Given the description of an element on the screen output the (x, y) to click on. 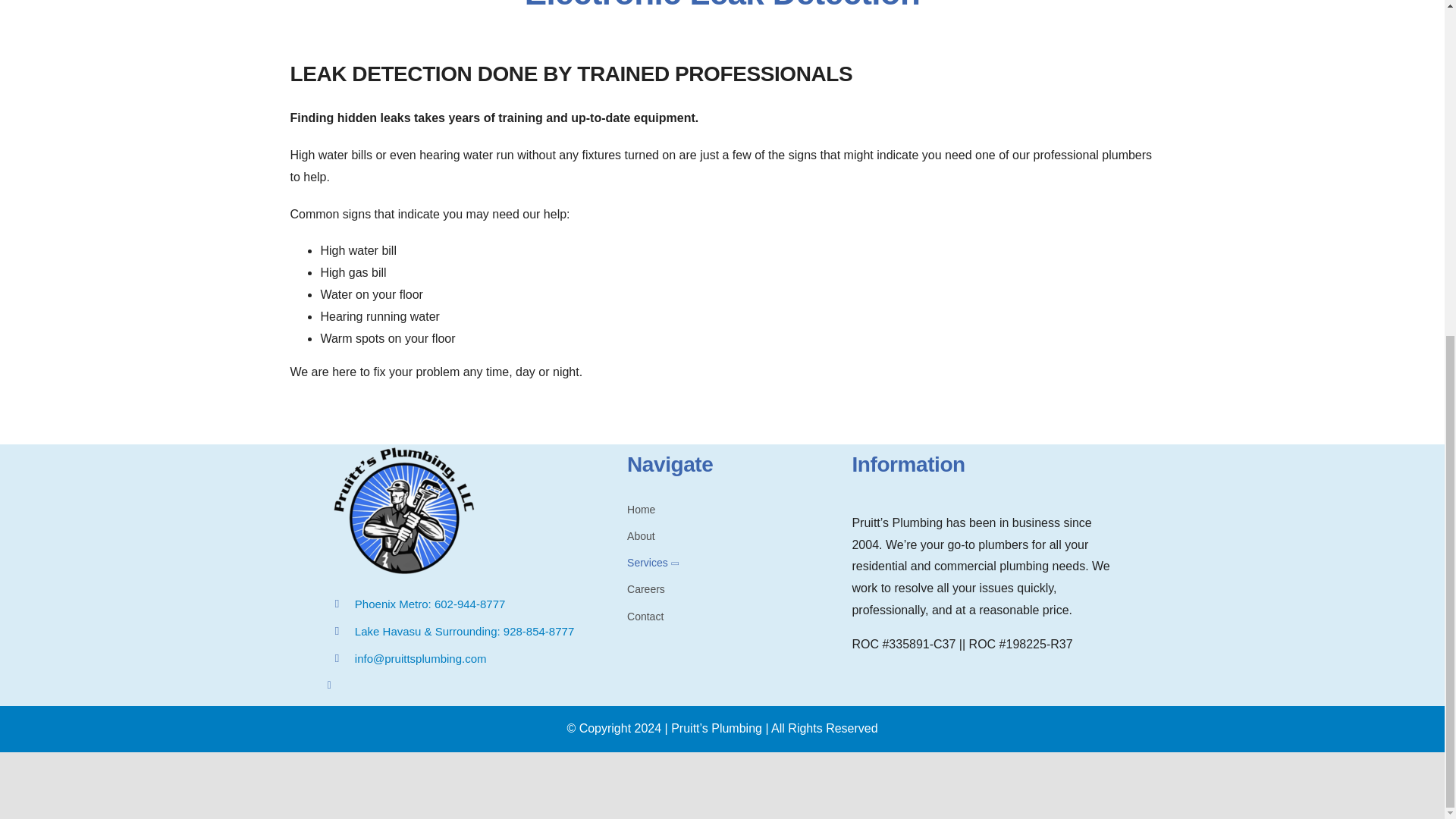
Phoenix Metro: 602-944-8777 (430, 603)
Pruitts Logo no ROC full size copy (403, 509)
About (721, 536)
Electronic Leak Detection (721, 20)
Services (721, 562)
Home (721, 509)
